Given the description of an element on the screen output the (x, y) to click on. 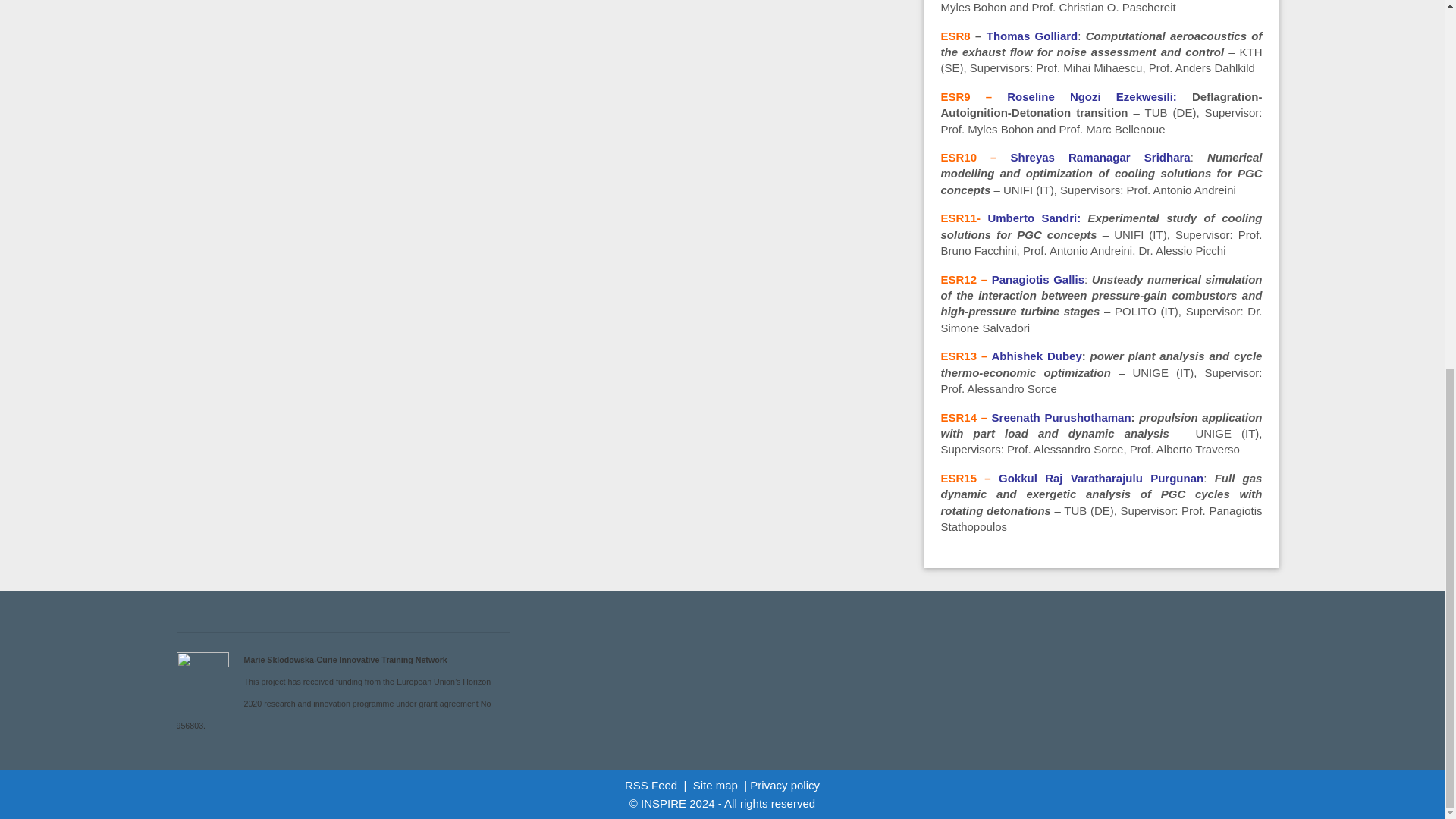
Site map (715, 784)
RSS Feed (650, 784)
Privacy policy (784, 784)
